Given the description of an element on the screen output the (x, y) to click on. 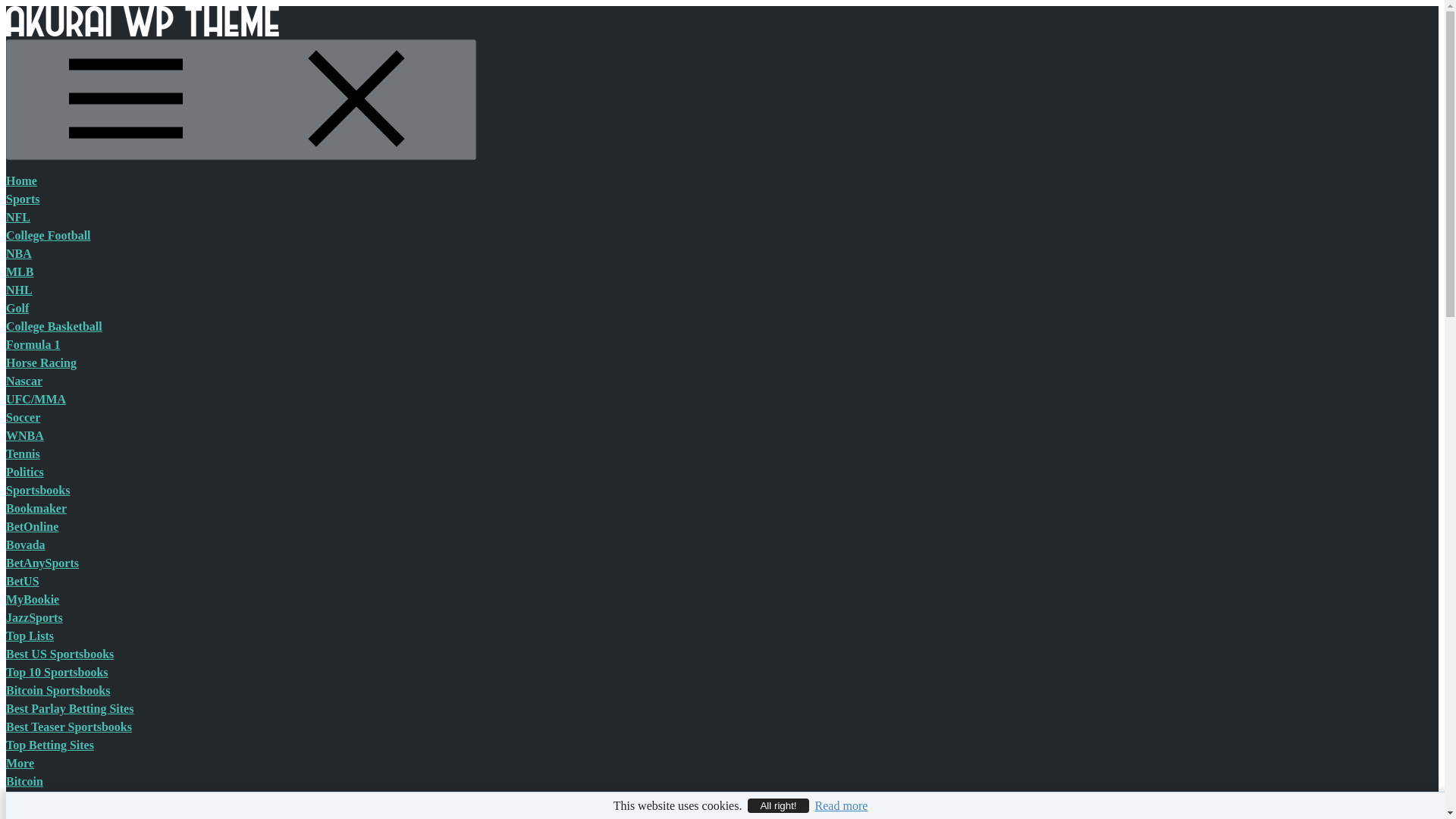
BetUS (22, 581)
BetAnySports (41, 562)
Menu (240, 99)
Horse Racing (41, 362)
Bovada (25, 544)
Bitcoin (24, 780)
Politics (24, 472)
Best US Sportsbooks (59, 653)
Golf (17, 308)
Top 10 Sportsbooks (56, 671)
Top Betting Sites (49, 744)
MLB (19, 271)
NBA (18, 253)
Bookmaker (35, 508)
Best Teaser Sportsbooks (68, 726)
